Given the description of an element on the screen output the (x, y) to click on. 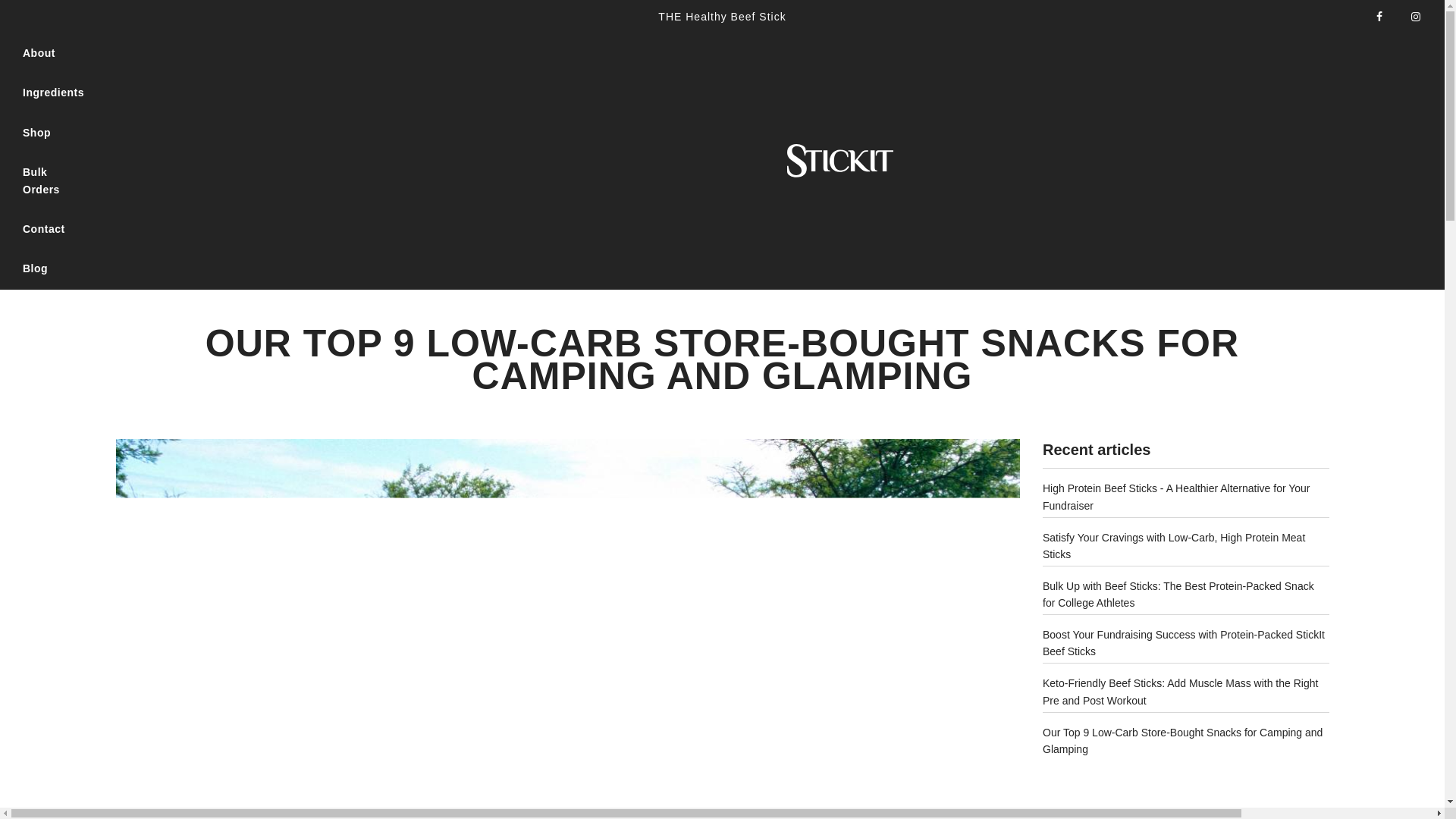
Shop (36, 132)
Ingredients (53, 92)
Contact (44, 228)
About (38, 52)
Bulk Orders (53, 180)
Blog (35, 268)
